Given the description of an element on the screen output the (x, y) to click on. 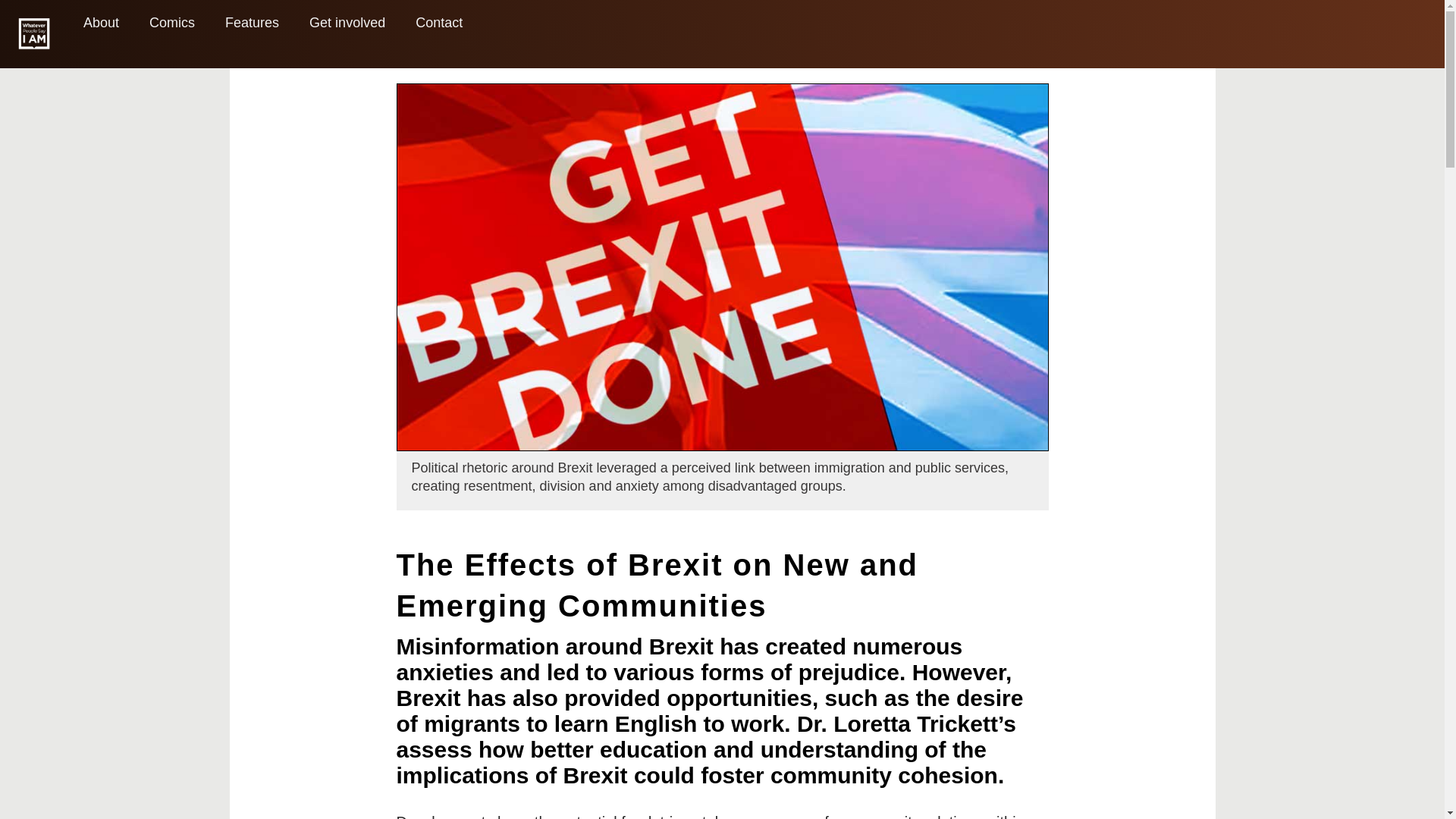
Get involved (347, 22)
Comics (171, 22)
Contact (438, 22)
About (100, 22)
Features (251, 22)
